Given the description of an element on the screen output the (x, y) to click on. 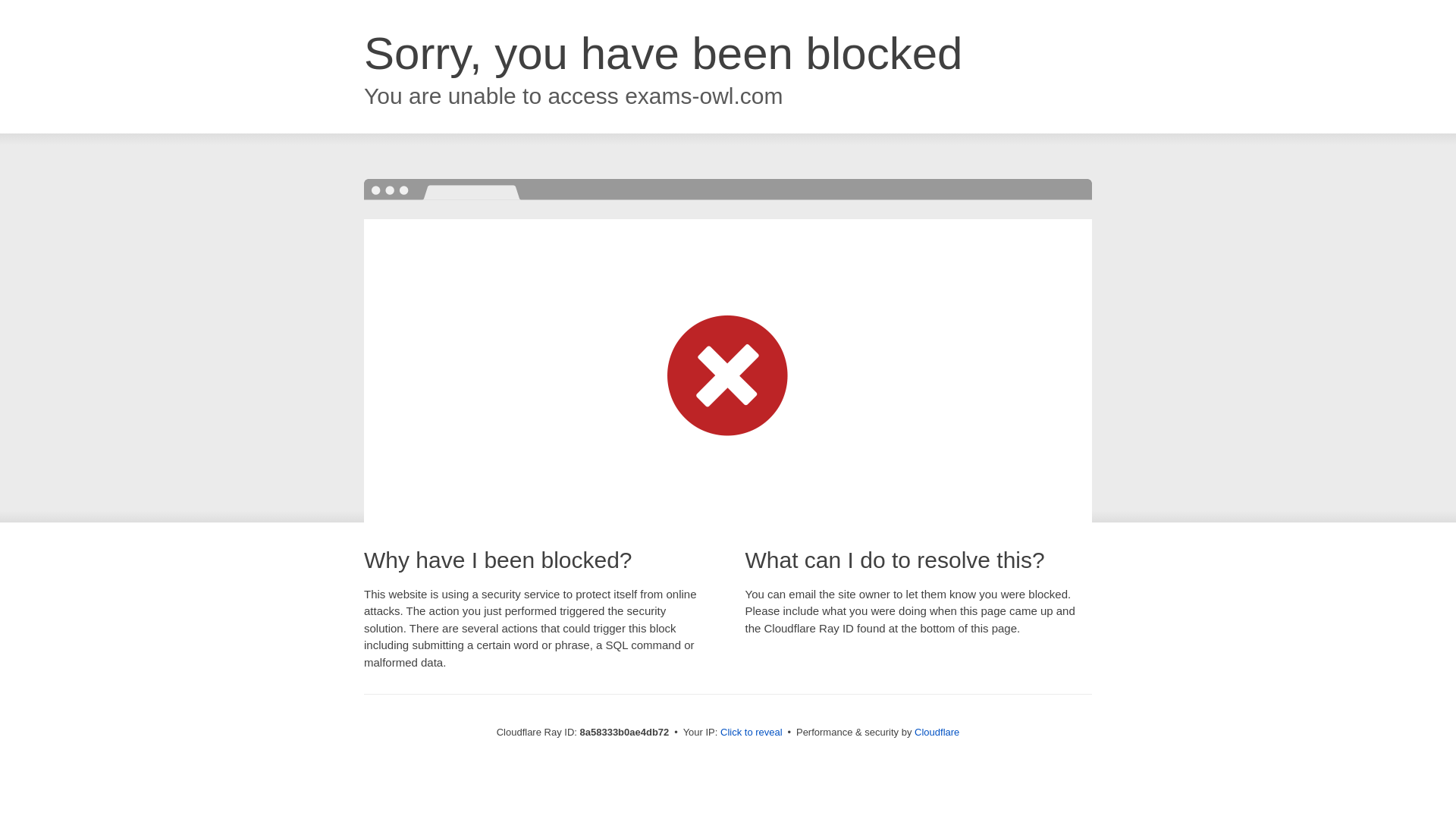
Cloudflare (936, 731)
Click to reveal (751, 732)
